Given the description of an element on the screen output the (x, y) to click on. 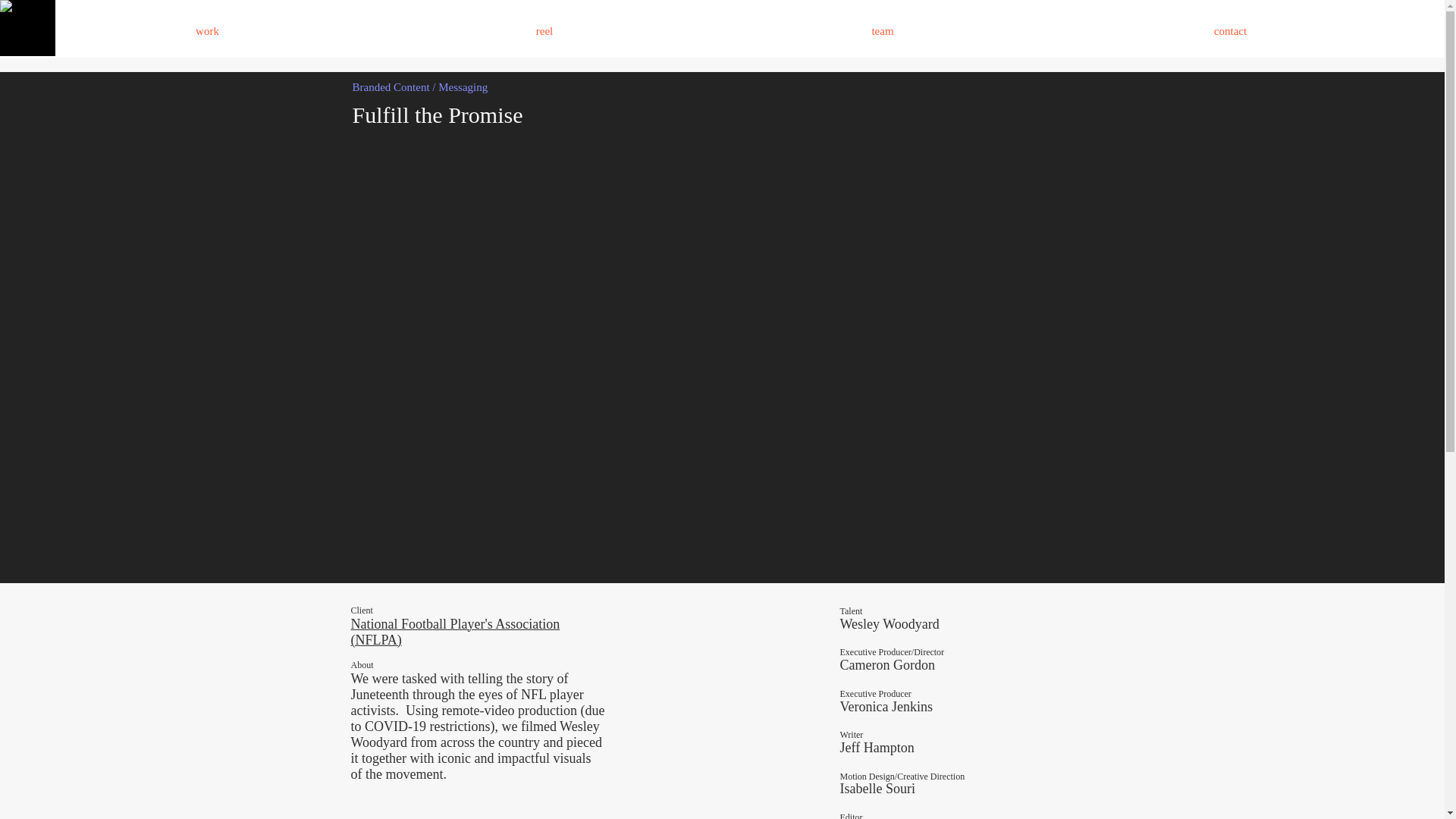
team (881, 30)
contact (1229, 30)
reel (544, 30)
work (207, 30)
